Given the description of an element on the screen output the (x, y) to click on. 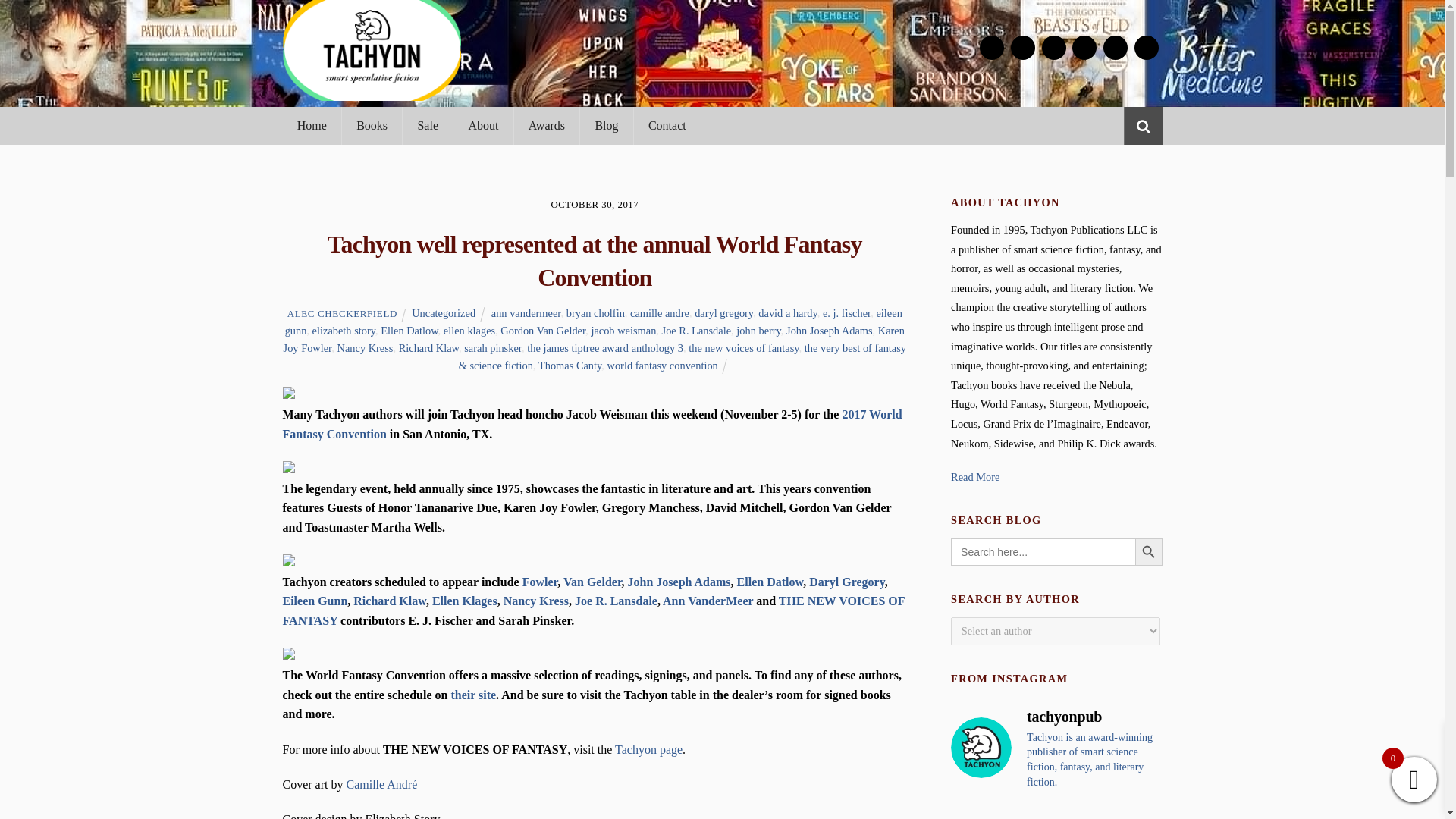
About (482, 125)
camille andre (659, 313)
bryan cholfin (595, 313)
Awards (546, 125)
Contact (666, 125)
Tachyon Publications (371, 93)
Sale (426, 125)
Uncategorized (444, 313)
Blog (606, 125)
Home (311, 125)
ann vandermeer (526, 313)
ALEC CHECKERFIELD (341, 313)
Books (370, 125)
tachyon-logo (371, 50)
